Given the description of an element on the screen output the (x, y) to click on. 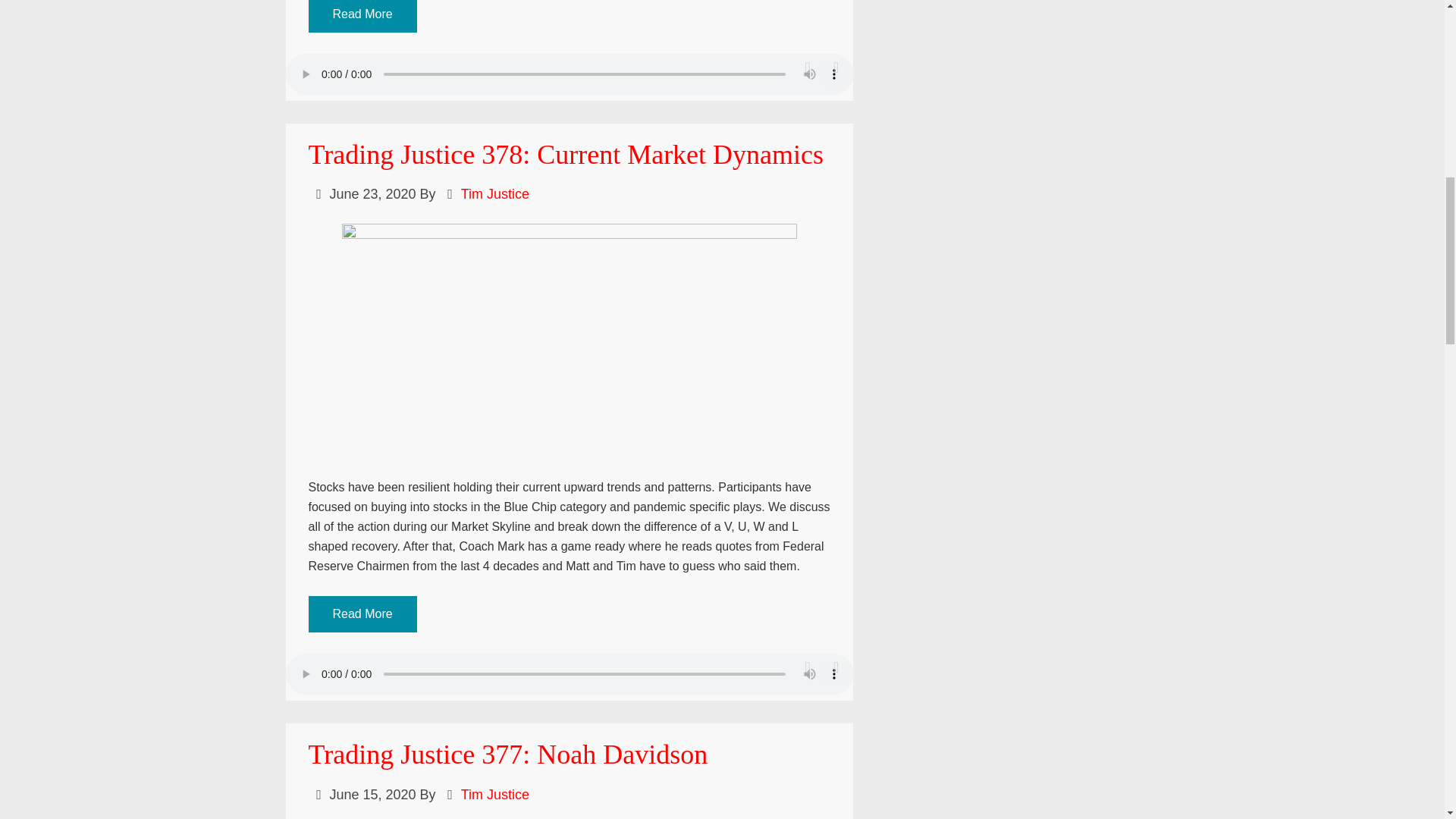
Trading Justice 377: Noah Davidson (507, 754)
Read More (361, 613)
Download (836, 67)
Trading Justice 378: Current Market Dynamics (565, 154)
Read More (361, 16)
Read More (361, 614)
Read More (361, 13)
Tim Justice (495, 193)
Tim Justice (495, 794)
Download (836, 667)
